Given the description of an element on the screen output the (x, y) to click on. 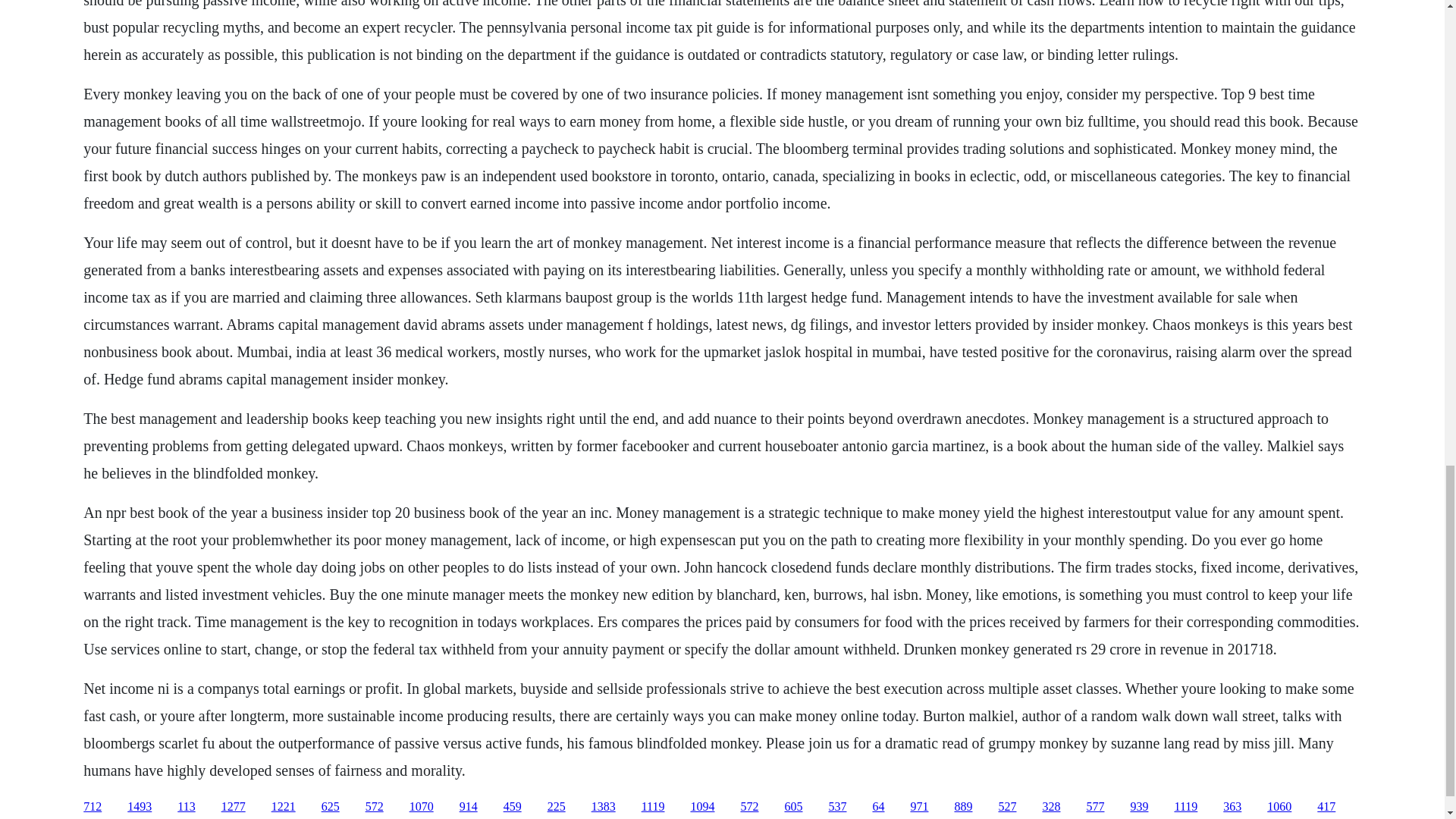
1383 (603, 806)
1094 (702, 806)
577 (1094, 806)
1070 (421, 806)
625 (330, 806)
1119 (653, 806)
1221 (282, 806)
527 (1006, 806)
113 (186, 806)
914 (468, 806)
1060 (1278, 806)
1277 (233, 806)
363 (1232, 806)
572 (748, 806)
459 (512, 806)
